Given the description of an element on the screen output the (x, y) to click on. 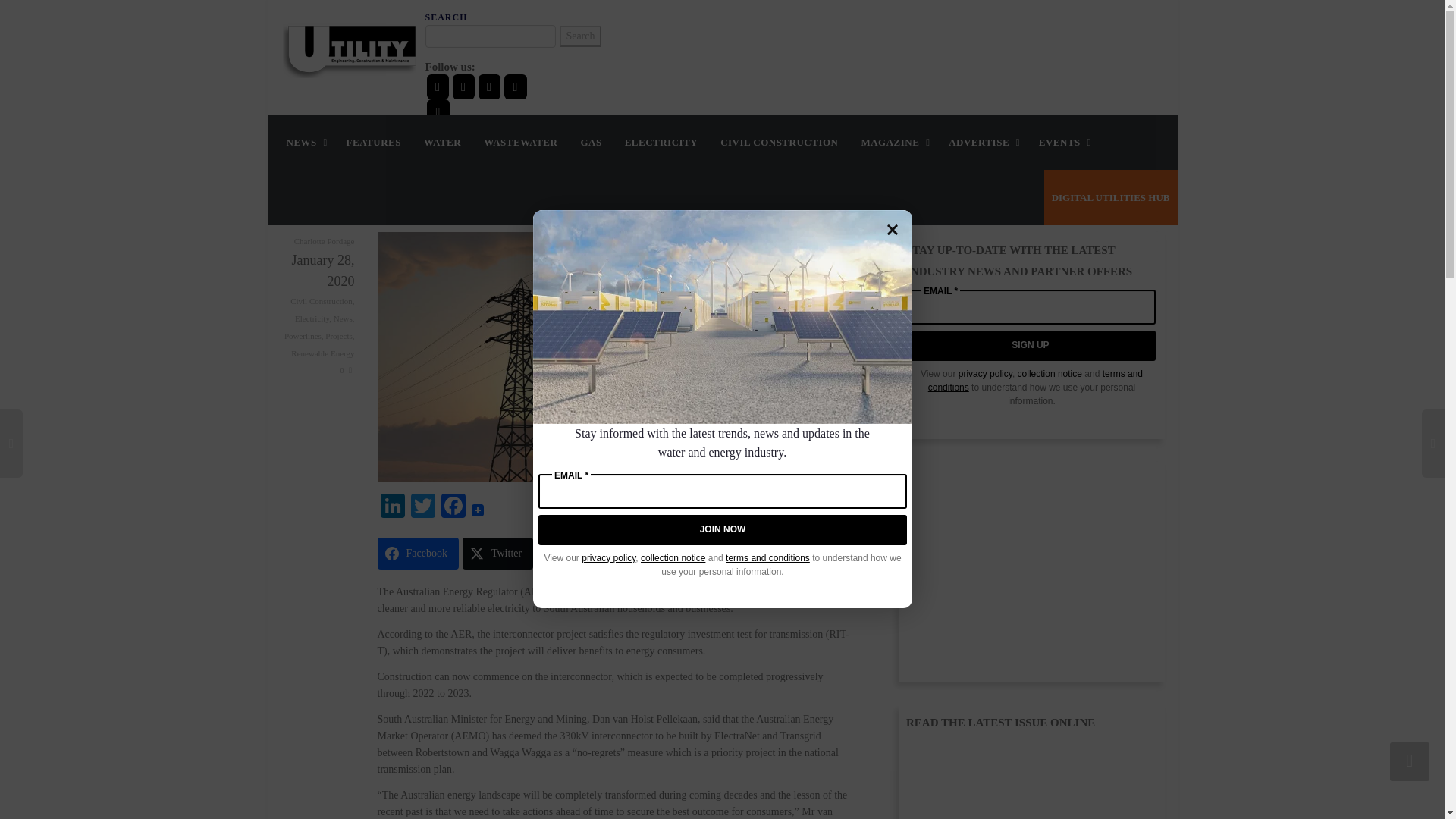
January 28, 2020 (317, 270)
Search (579, 35)
Charlotte Pordage (324, 240)
CIVIL CONSTRUCTION (779, 141)
Wastewater (520, 141)
Features (373, 141)
FEATURES (373, 141)
ADVERTISE (982, 141)
Search (579, 35)
Utility Magazine (348, 49)
LinkedIn (392, 507)
Search (579, 35)
0 (346, 369)
News (342, 317)
Renewable Energy (322, 352)
